Given the description of an element on the screen output the (x, y) to click on. 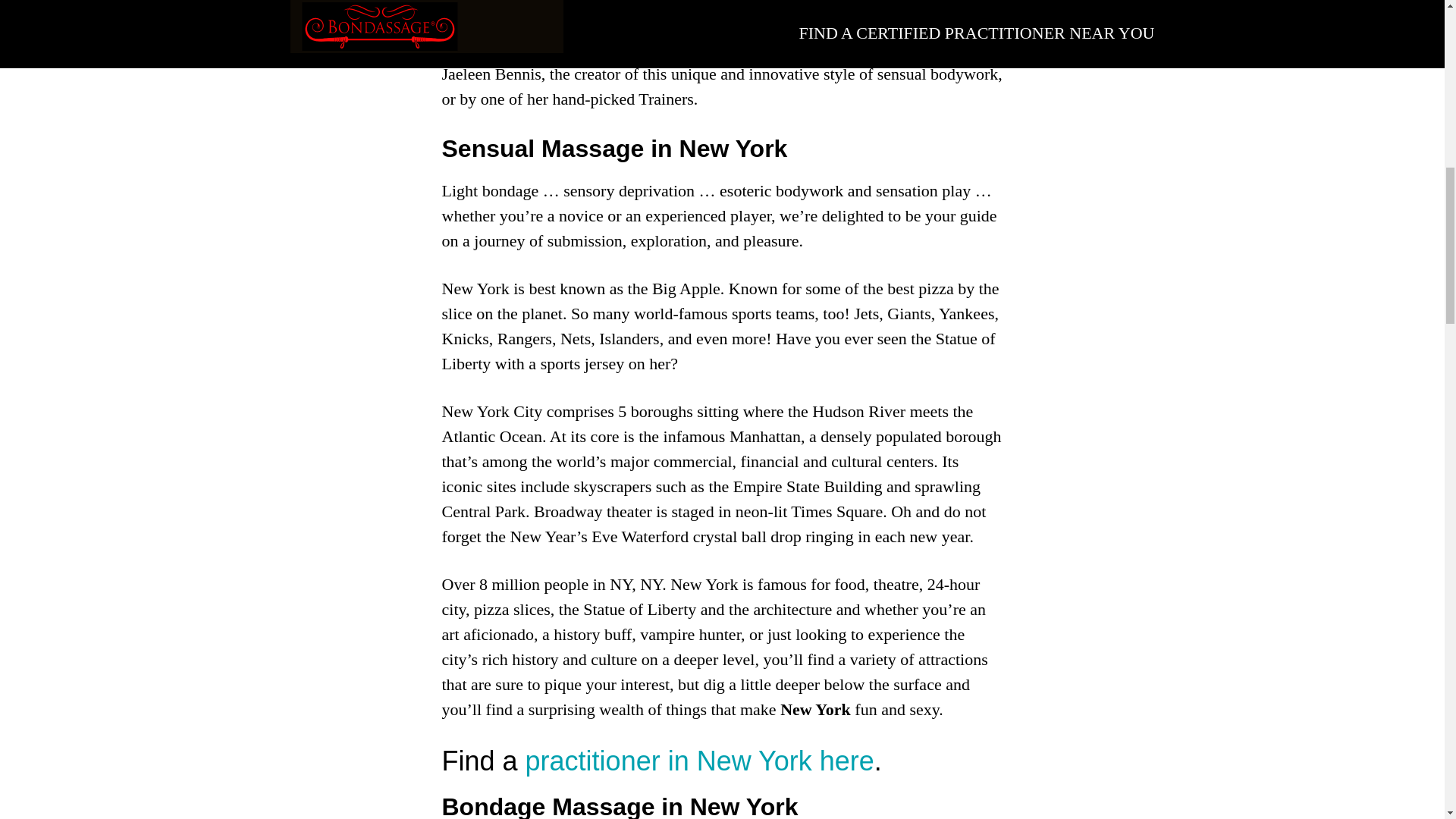
practitioner in New York here (696, 760)
